Given the description of an element on the screen output the (x, y) to click on. 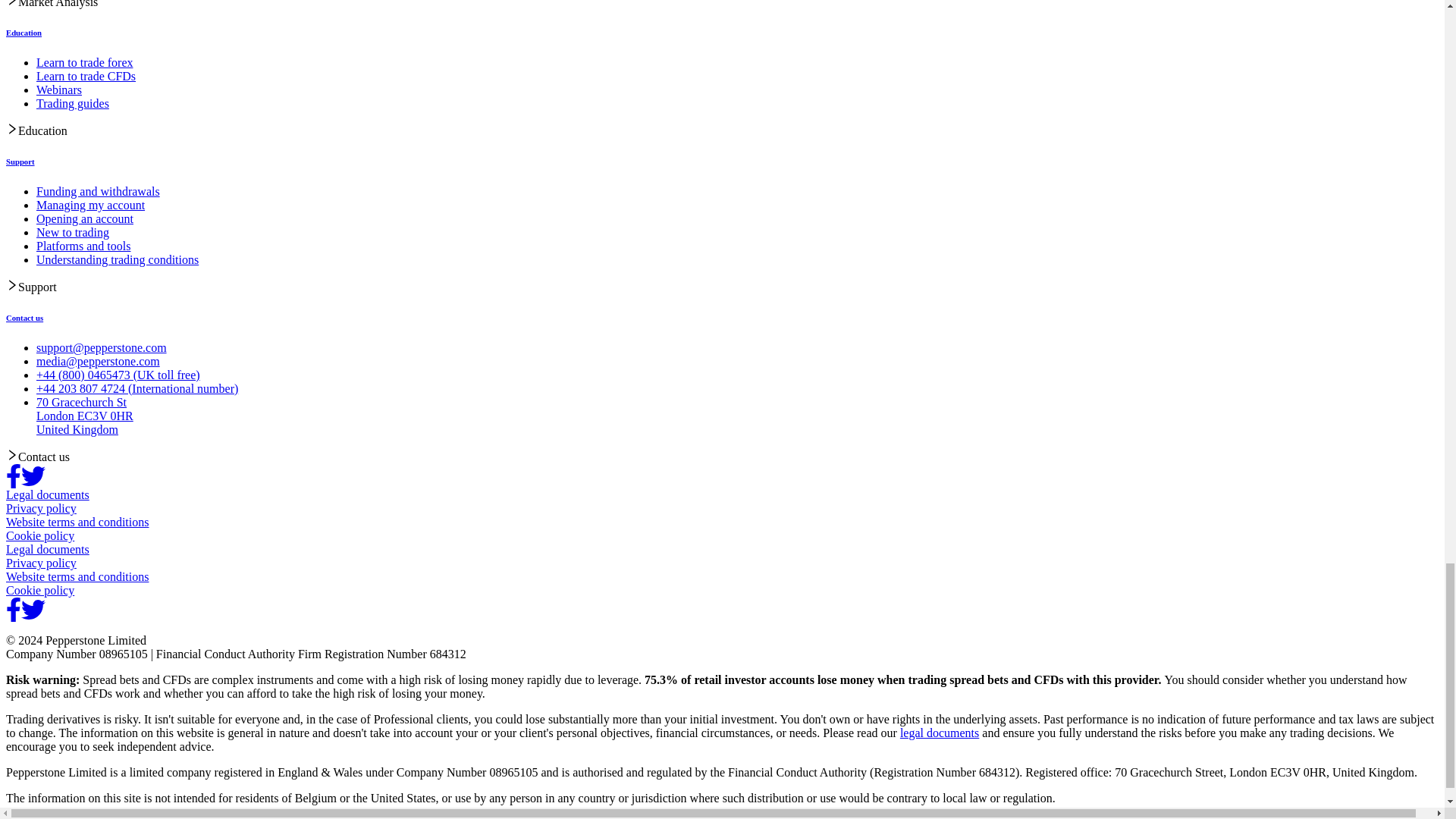
Funding and withdrawals (98, 191)
Support (19, 161)
Trading guides (72, 103)
Learn to trade CFDs (85, 75)
Webinars (58, 89)
Managing my account (90, 205)
Education (23, 31)
Learn to trade forex (84, 62)
